Given the description of an element on the screen output the (x, y) to click on. 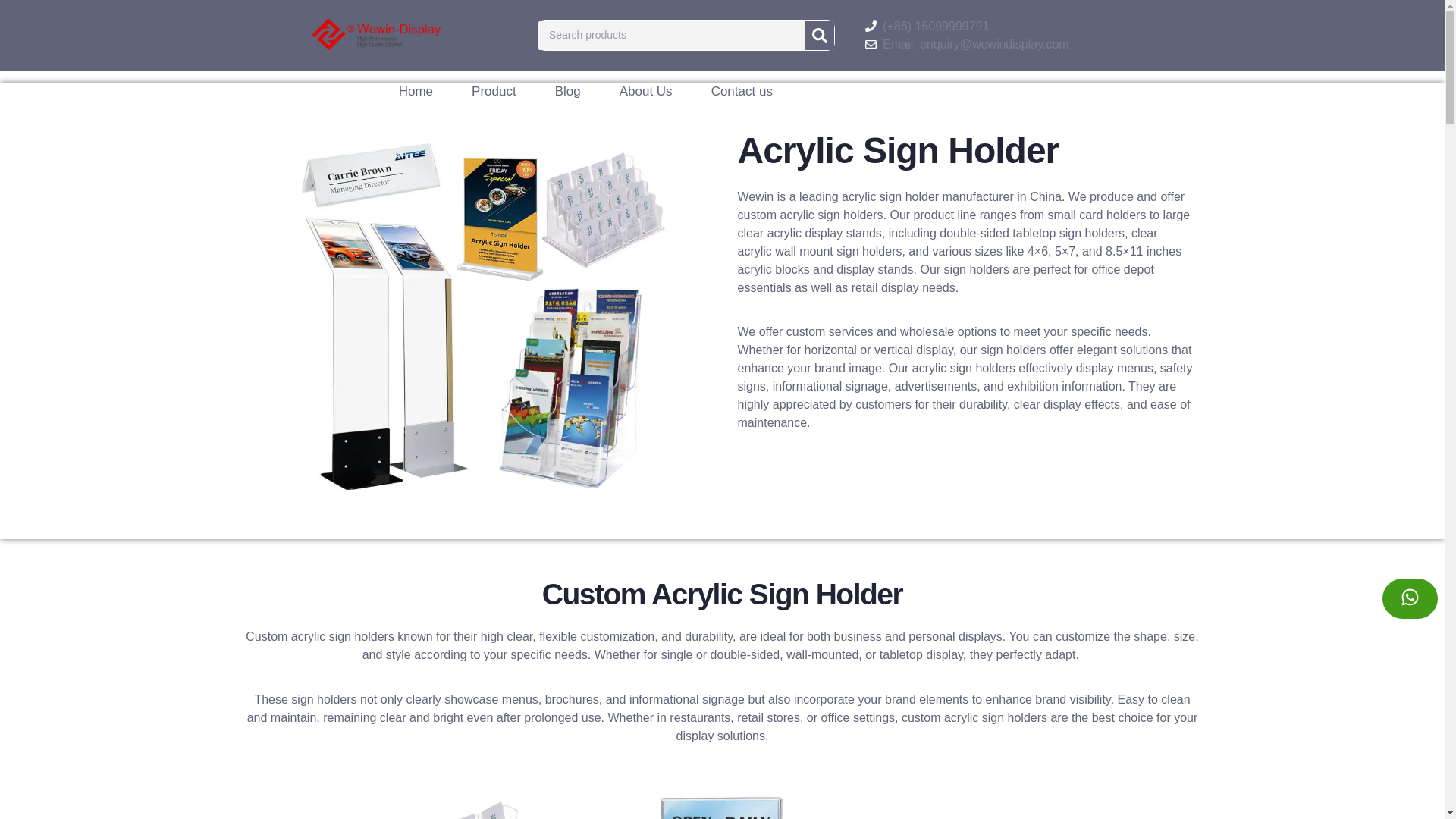
Home (416, 91)
Product (494, 91)
